Given the description of an element on the screen output the (x, y) to click on. 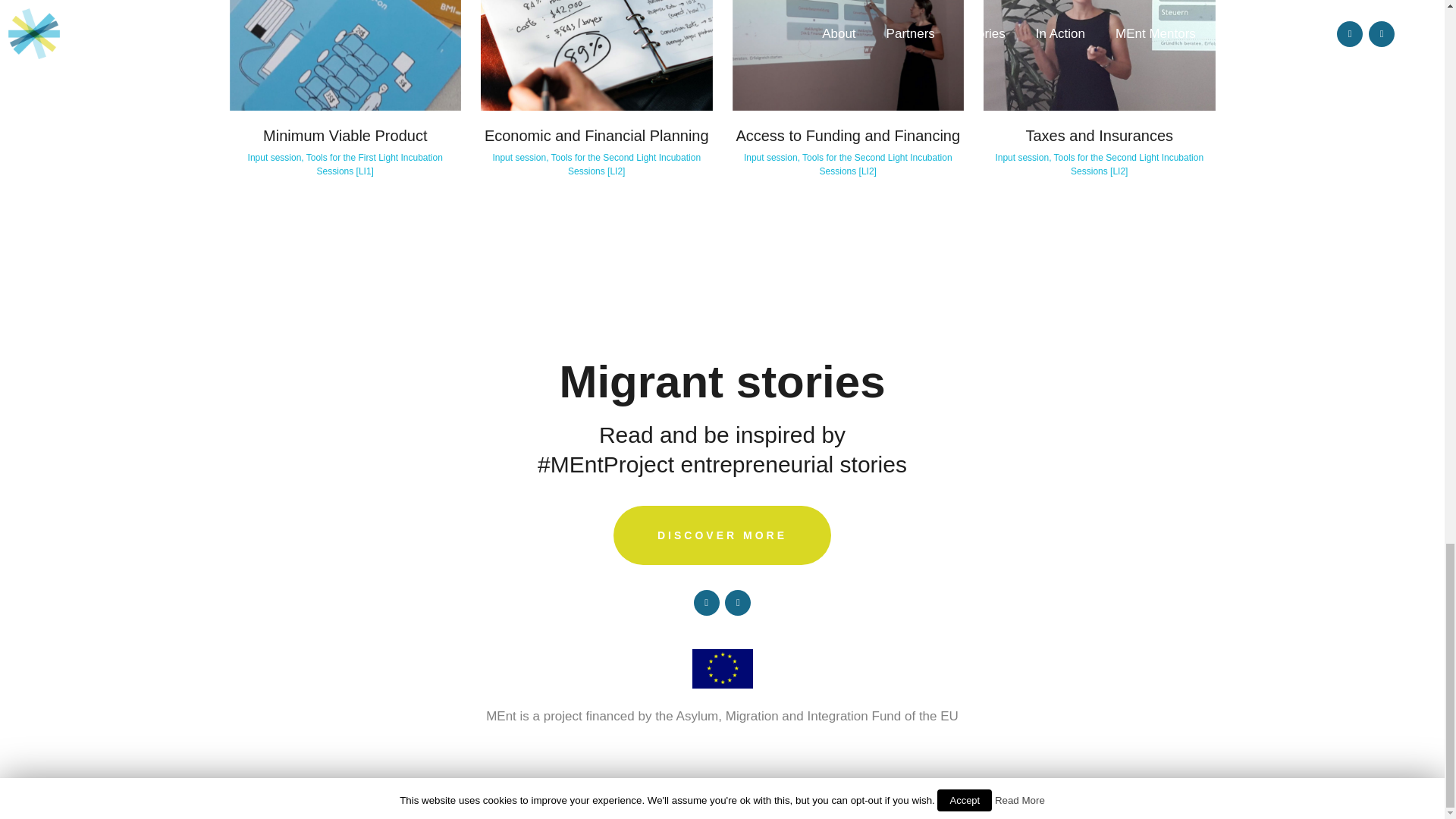
Taxes and Insurances (1099, 135)
Access to Funding and Financing (847, 135)
Minimum Viable Product (344, 135)
Economic and Financial Planning (596, 135)
